Given the description of an element on the screen output the (x, y) to click on. 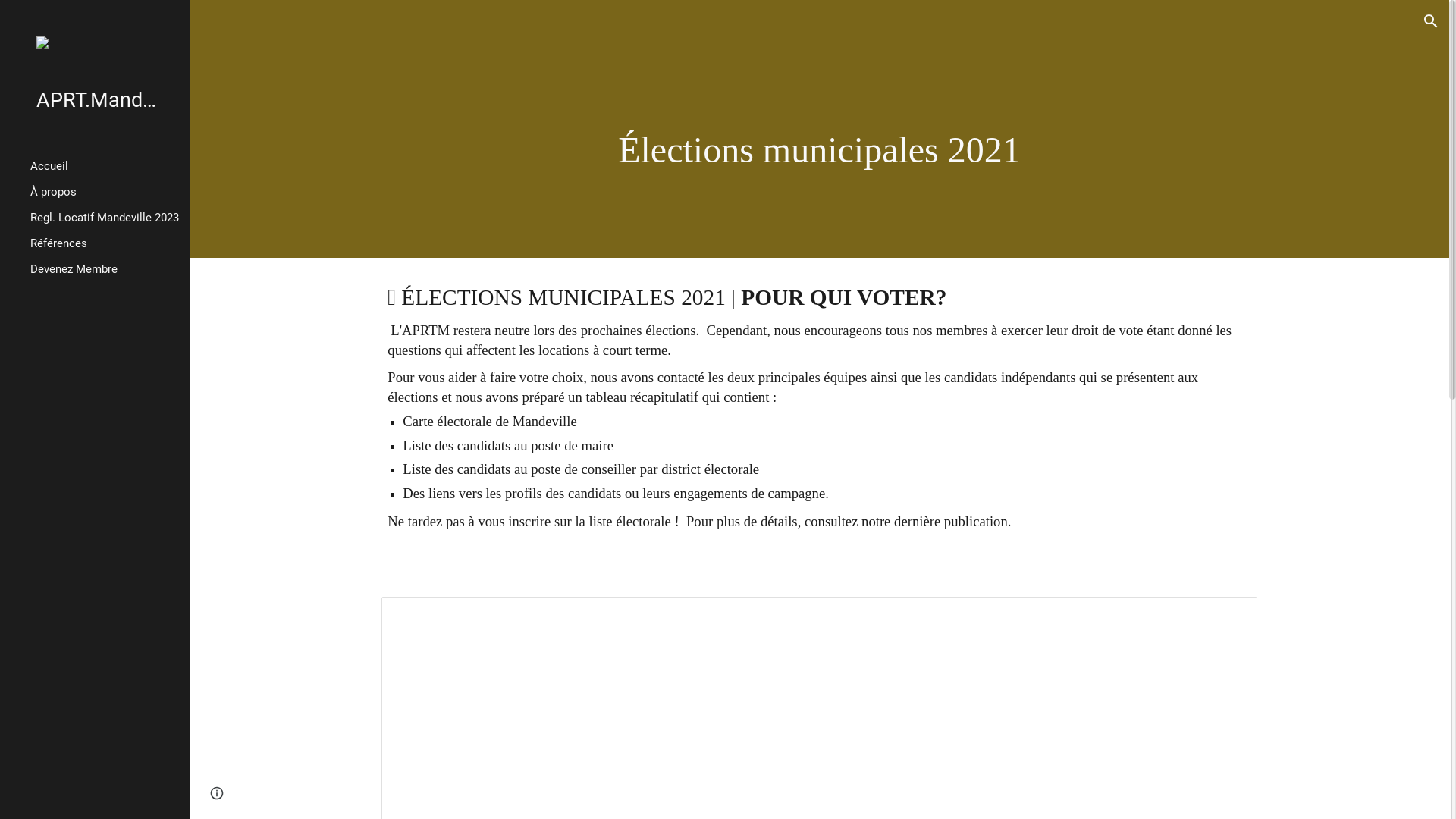
Accueil Element type: text (103, 165)
Devenez Membre Element type: text (103, 269)
Regl. Locatif Mandeville 2023 Element type: text (103, 217)
APRT.Mandeville Element type: text (100, 99)
